Given the description of an element on the screen output the (x, y) to click on. 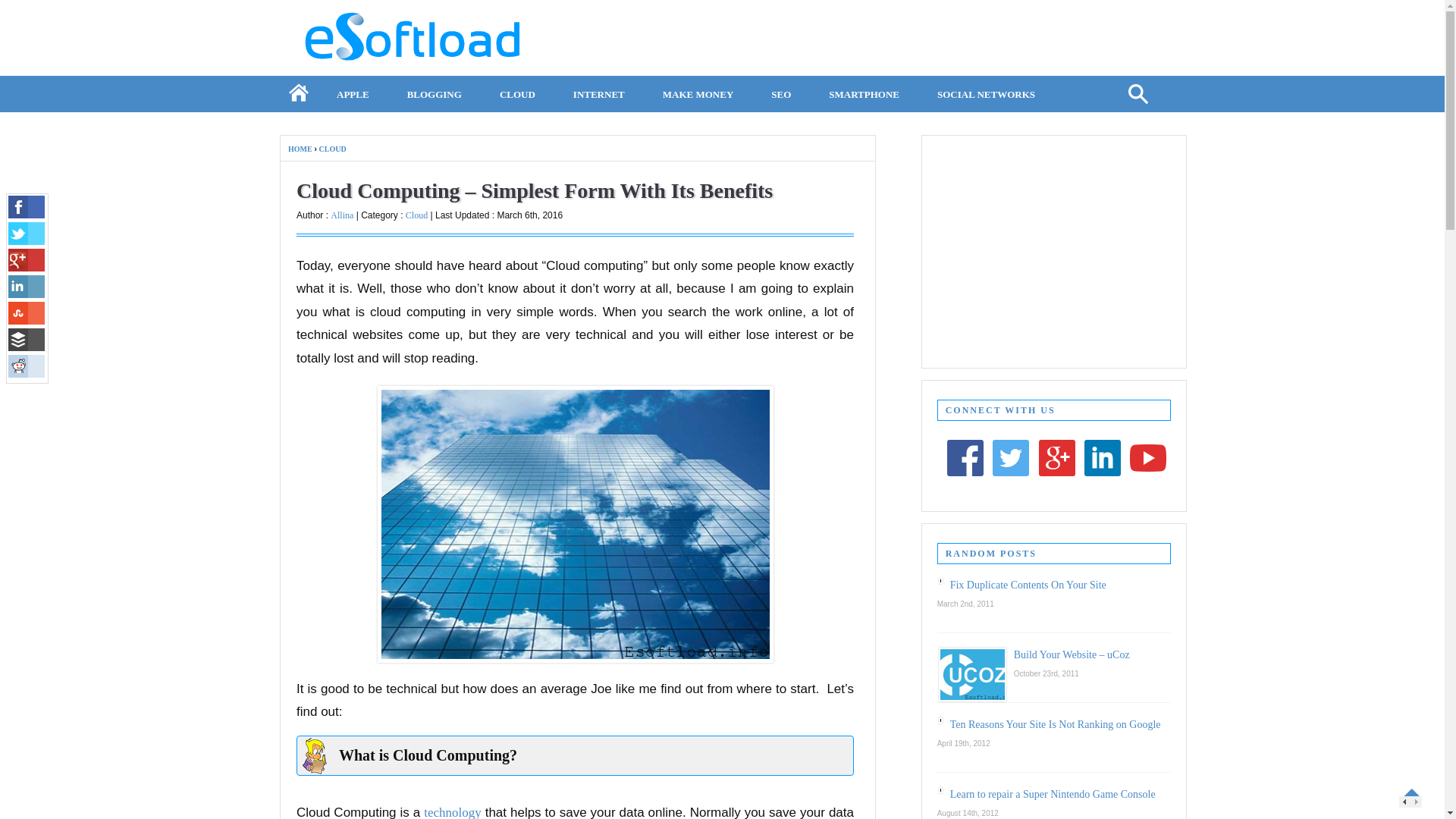
CLOUD (332, 148)
Cloud computing (575, 523)
HOME (298, 92)
SEO (780, 92)
LinkedIn (26, 286)
Facebook (26, 206)
Stumble it (26, 313)
Allina (341, 214)
CLOUD (517, 92)
SOCIAL NETWORKS (986, 92)
Share on Twitter (26, 232)
APPLE (352, 92)
INTERNET (598, 92)
Stumbleupon (26, 313)
eSoftload : Information You need  (419, 65)
